Given the description of an element on the screen output the (x, y) to click on. 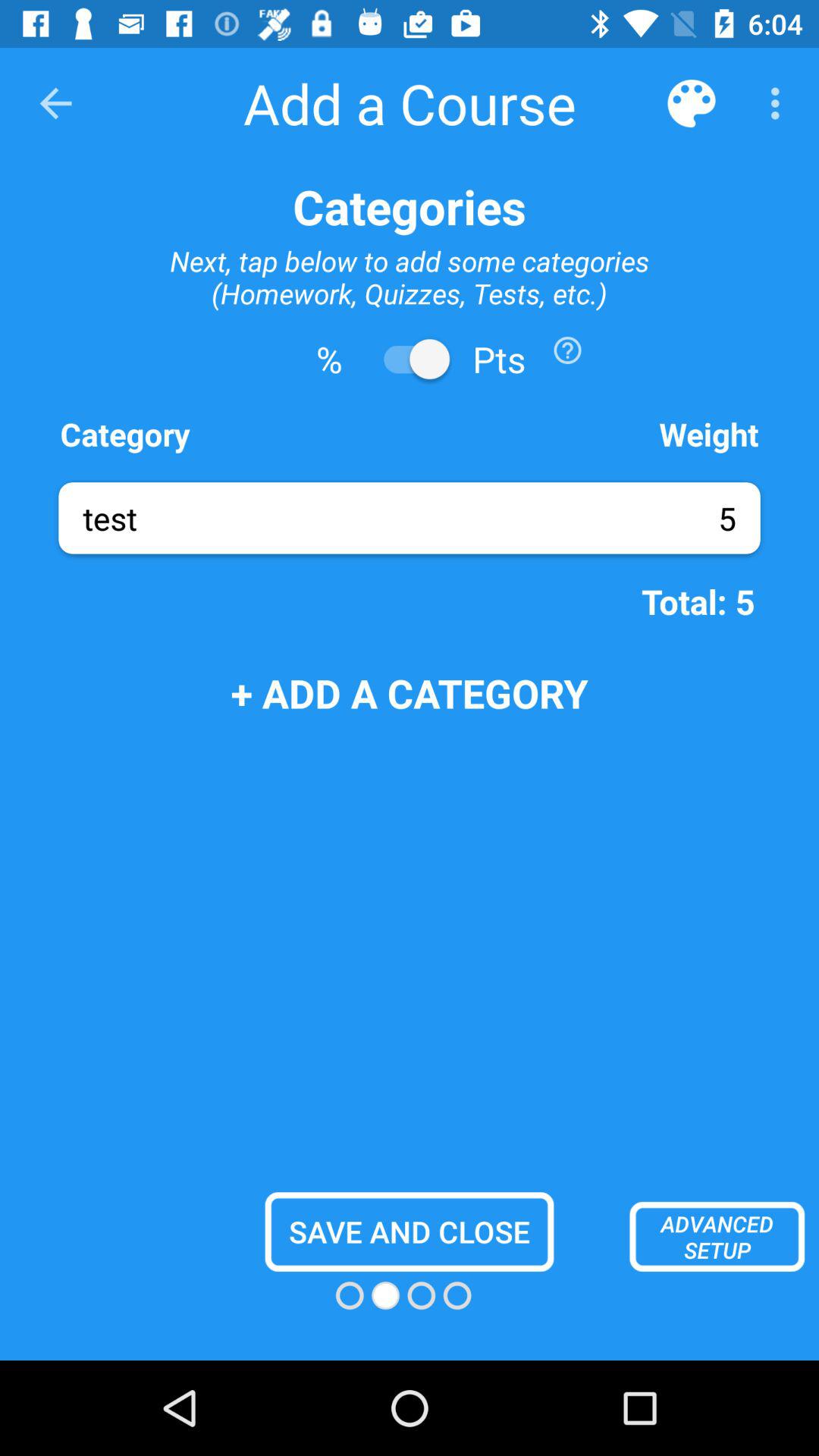
questions and faq for the site (567, 350)
